Given the description of an element on the screen output the (x, y) to click on. 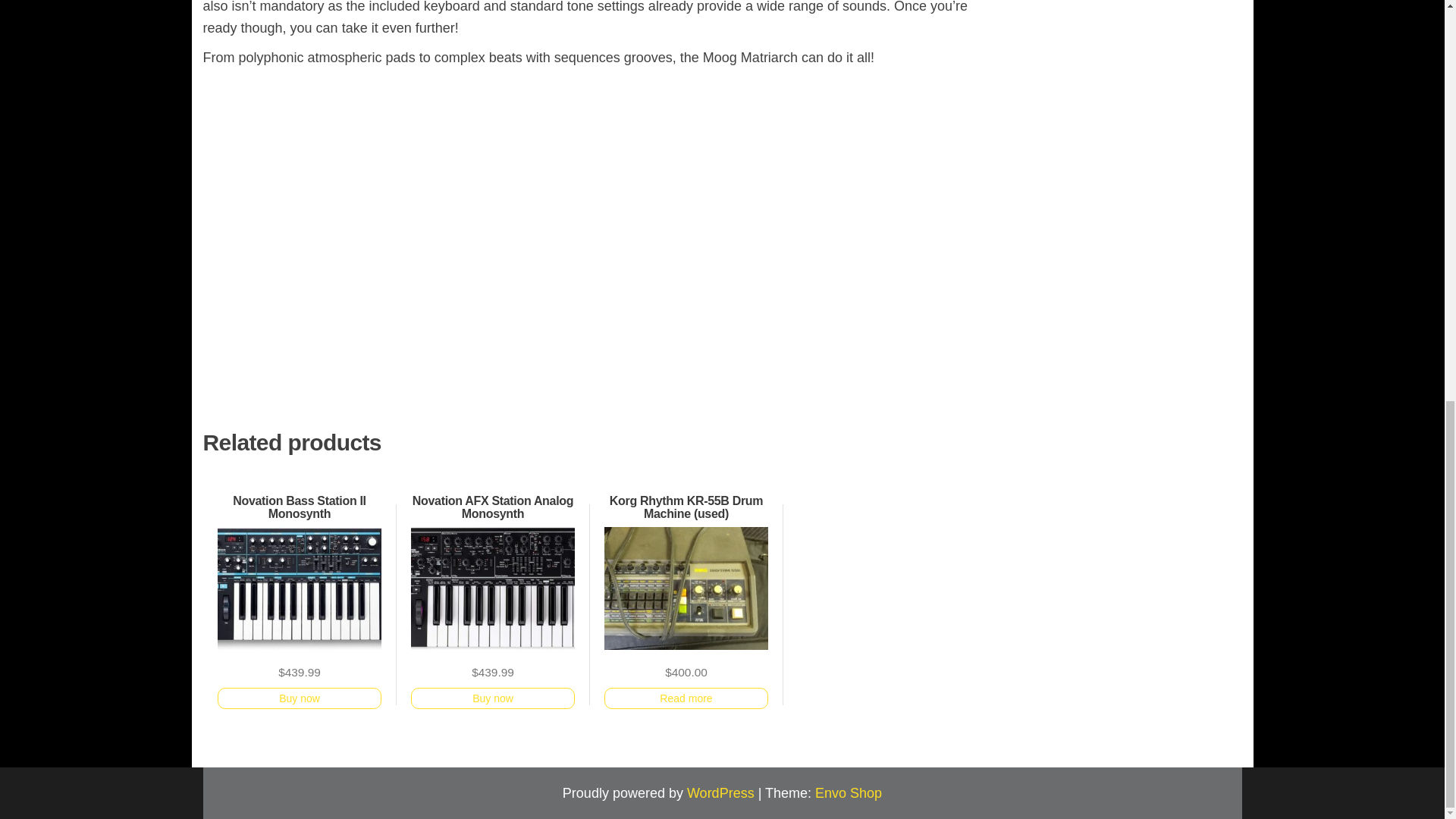
Read more (686, 698)
Buy now (298, 698)
Buy now (492, 698)
